Given the description of an element on the screen output the (x, y) to click on. 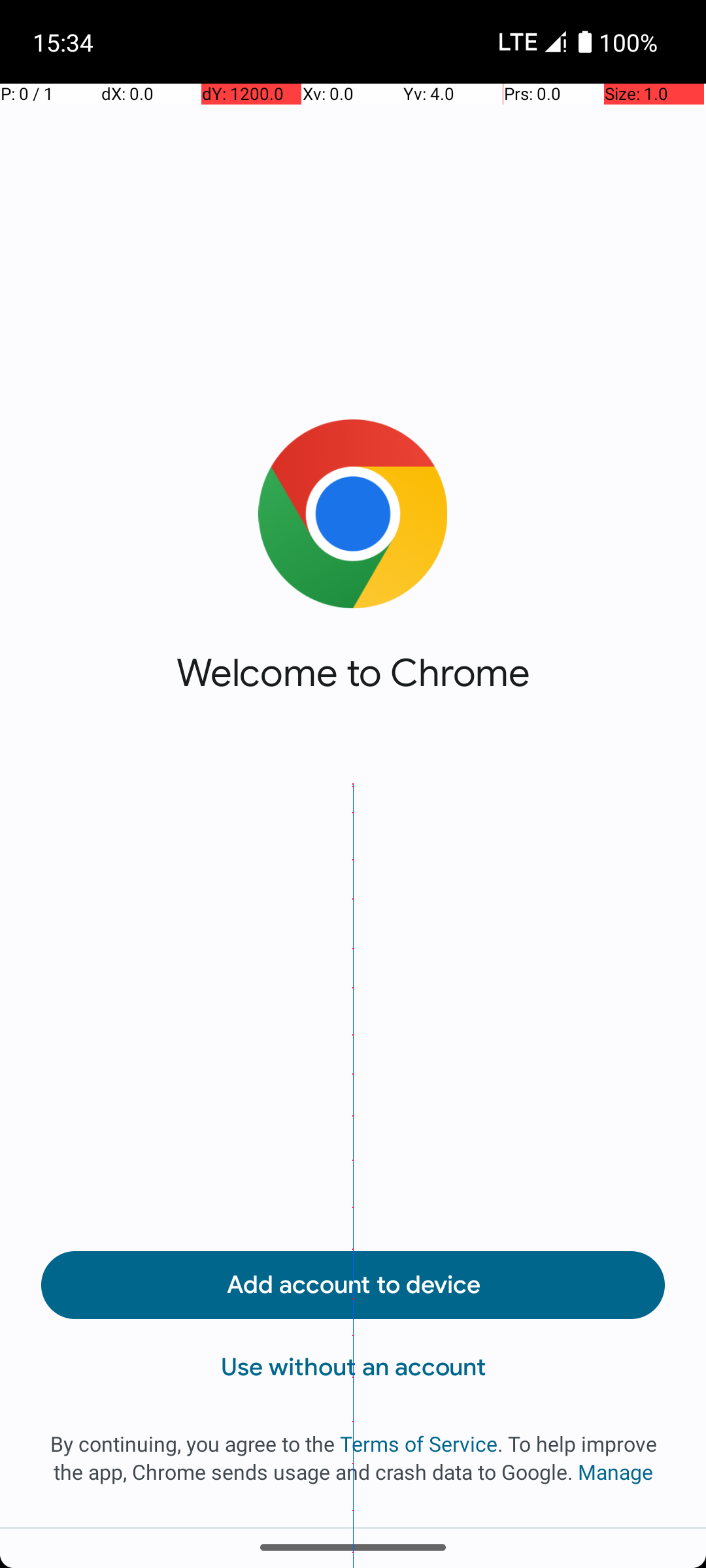
By continuing, you agree to the Terms of Service. To help improve the app, Chrome sends usage and crash data to Google. Manage Element type: android.widget.TextView (352, 1457)
Add account to device Element type: android.widget.Button (352, 1284)
Use without an account Element type: android.widget.Button (352, 1367)
